Given the description of an element on the screen output the (x, y) to click on. 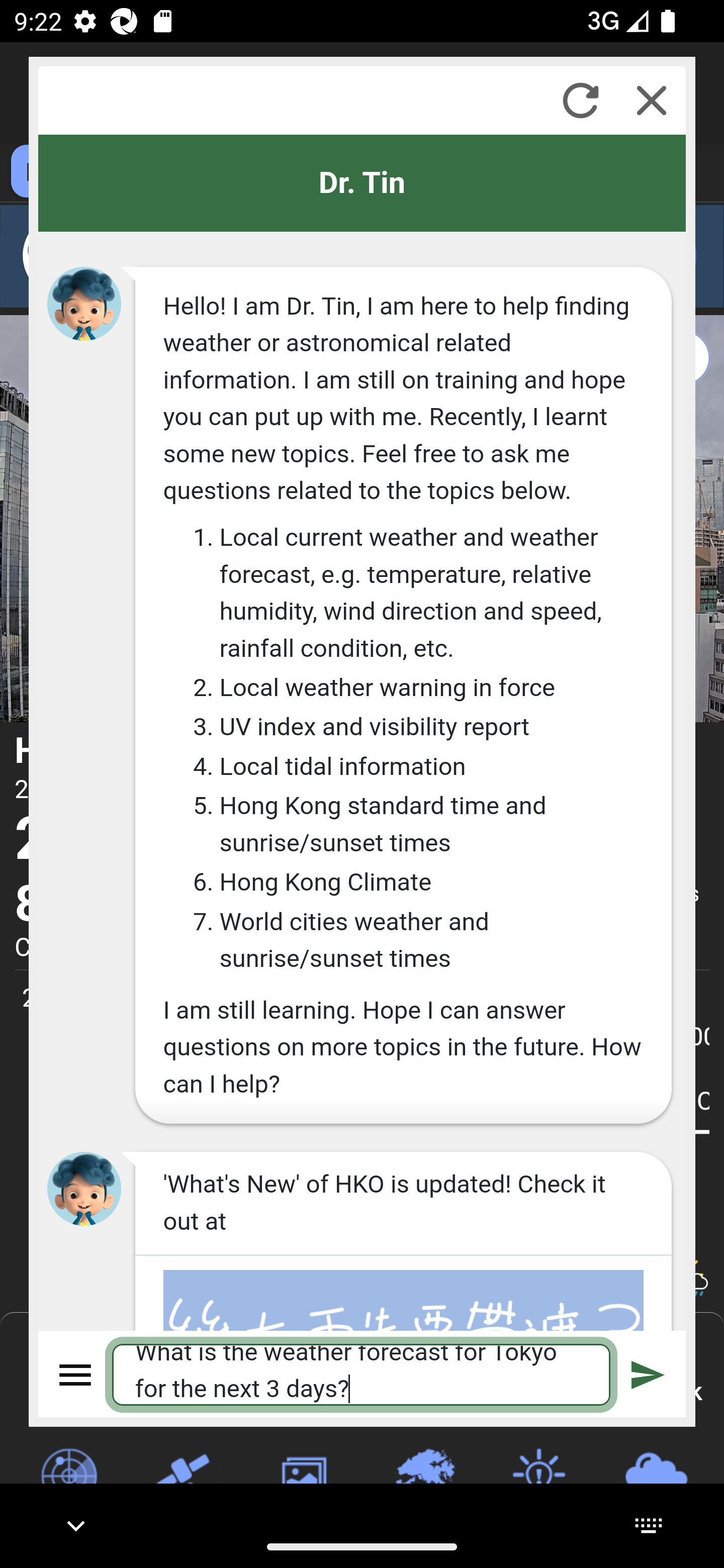
Refresh (580, 100)
Close (651, 100)
Menu (75, 1374)
Submit (648, 1374)
